Given the description of an element on the screen output the (x, y) to click on. 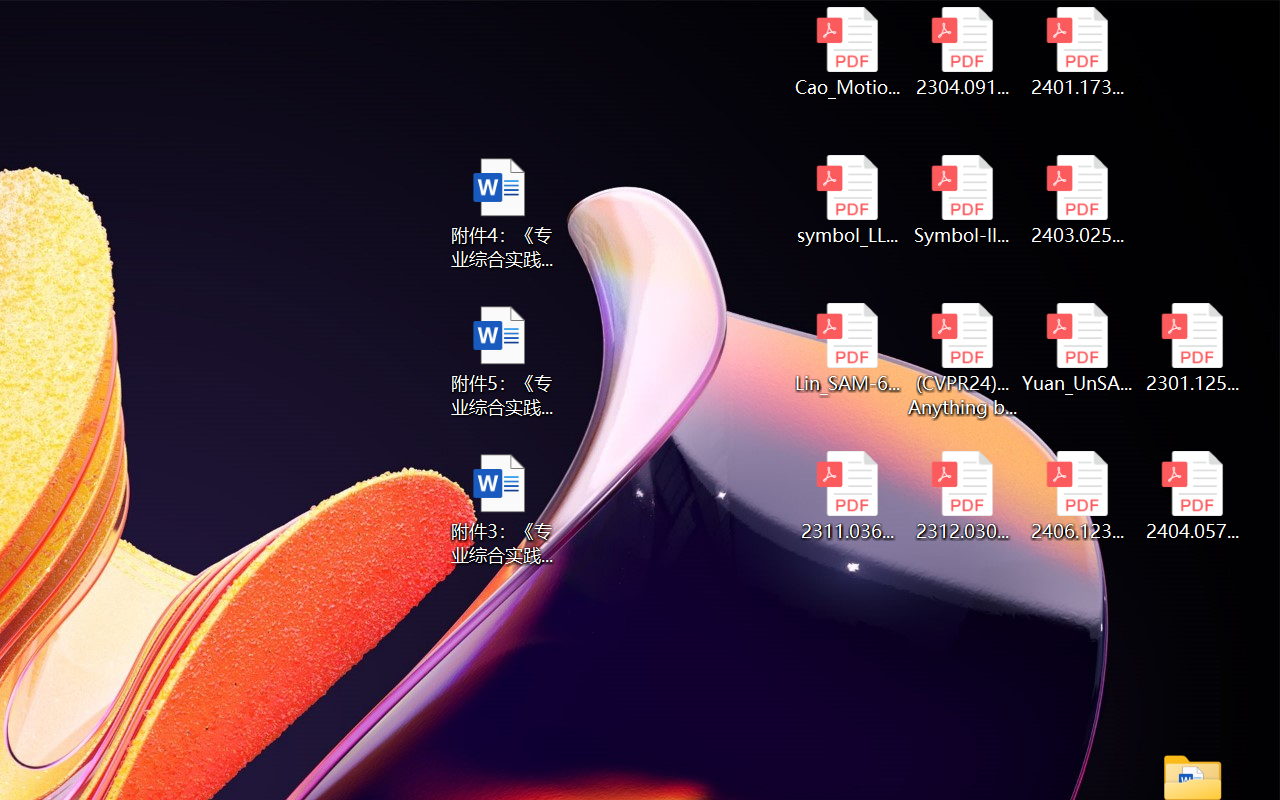
Symbol-llm-v2.pdf (962, 200)
2311.03658v2.pdf (846, 496)
(CVPR24)Matching Anything by Segmenting Anything.pdf (962, 360)
2406.12373v2.pdf (1077, 496)
2401.17399v1.pdf (1077, 52)
2404.05719v1.pdf (1192, 496)
2304.09121v3.pdf (962, 52)
2312.03032v2.pdf (962, 496)
symbol_LLM.pdf (846, 200)
2403.02502v1.pdf (1077, 200)
